Given the description of an element on the screen output the (x, y) to click on. 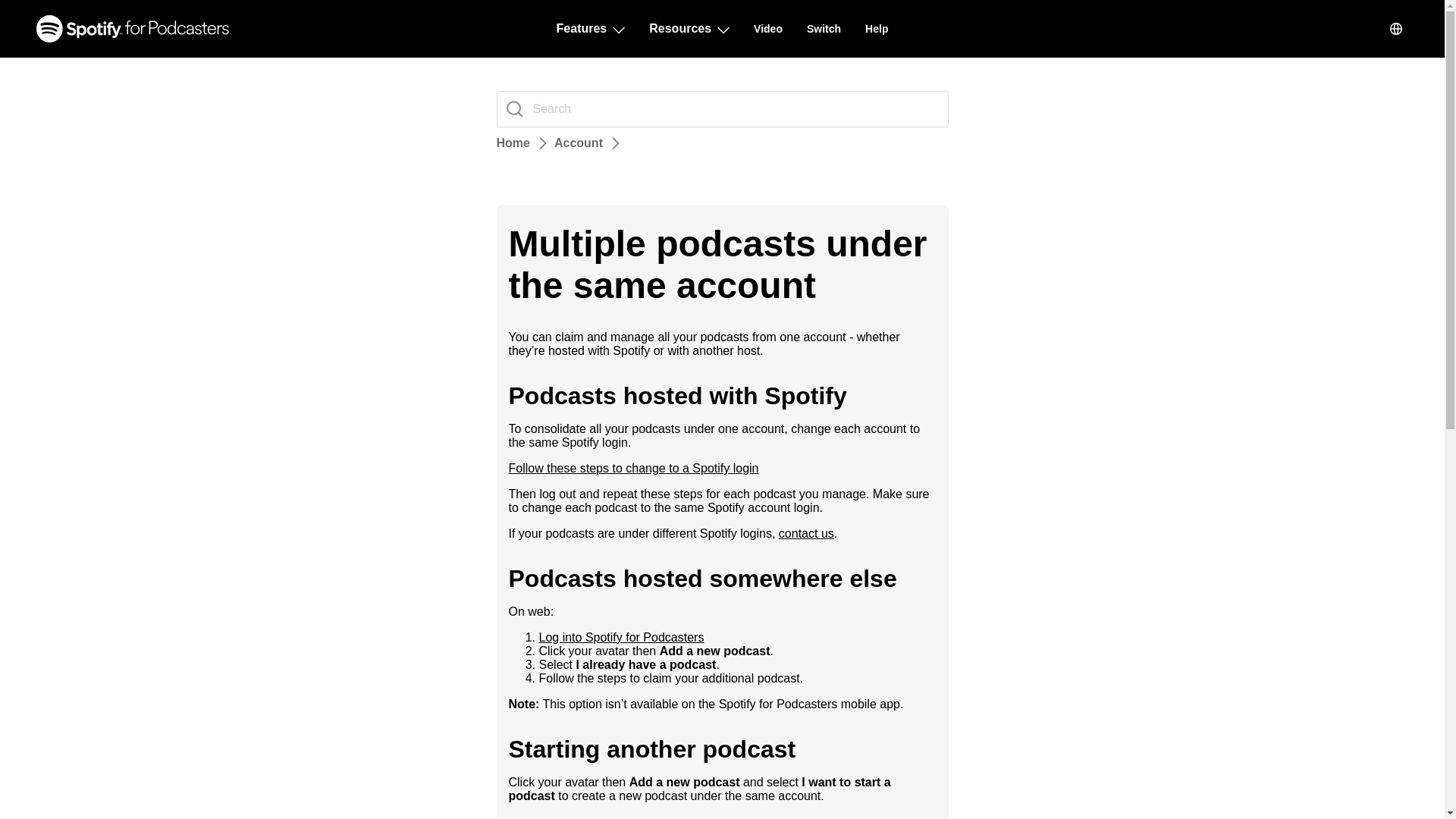
Switch (823, 28)
Spotify for Podcasters (132, 28)
Help (876, 28)
Resources (689, 29)
Account (578, 142)
Features (591, 29)
contact us (806, 533)
Video (768, 28)
Home (512, 142)
Follow these steps to change to a Spotify login (633, 468)
Log into Spotify for Podcasters (620, 636)
